Given the description of an element on the screen output the (x, y) to click on. 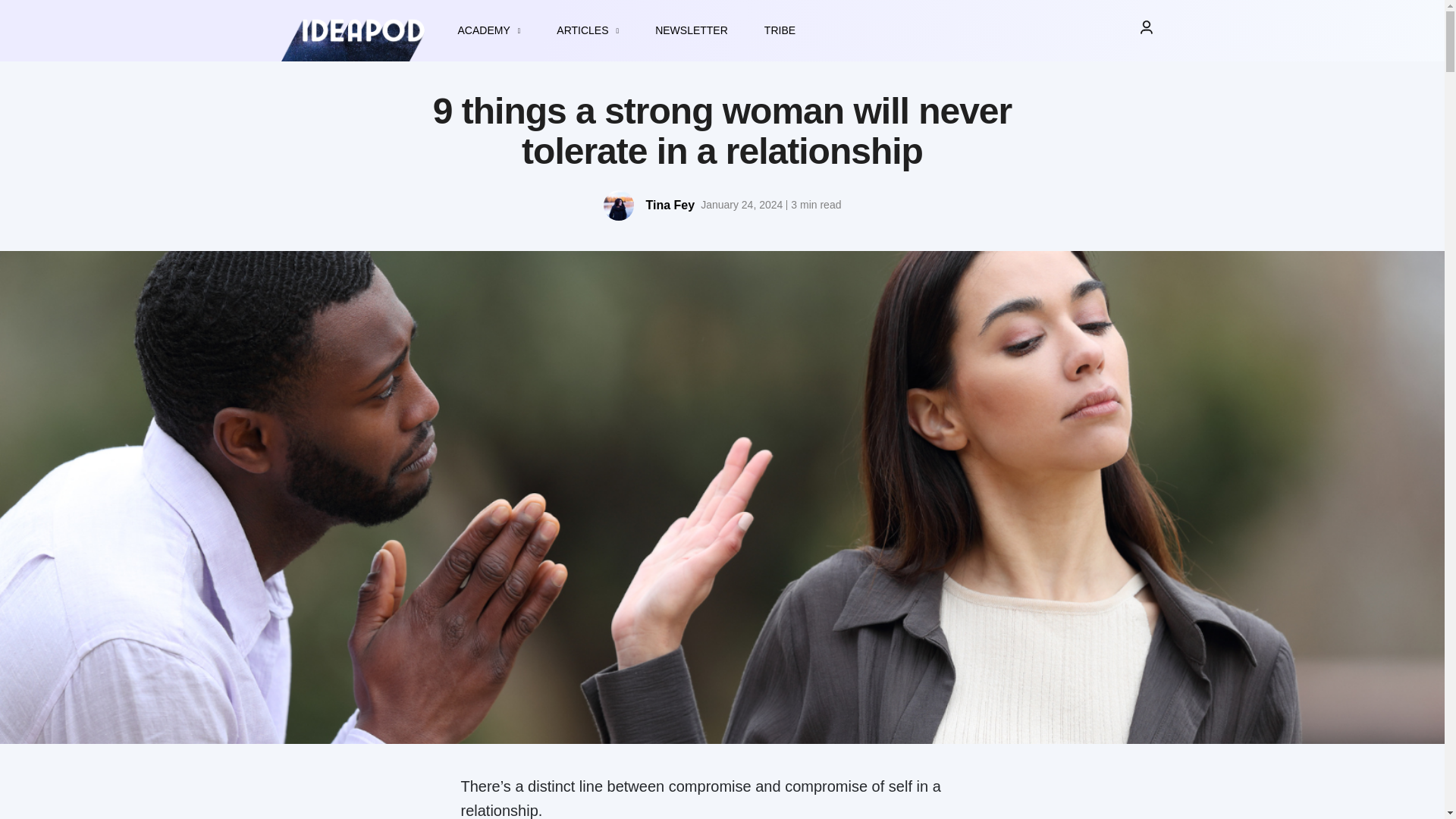
ACADEMY (488, 30)
ARTICLES (587, 30)
NEWSLETTER (691, 30)
